Given the description of an element on the screen output the (x, y) to click on. 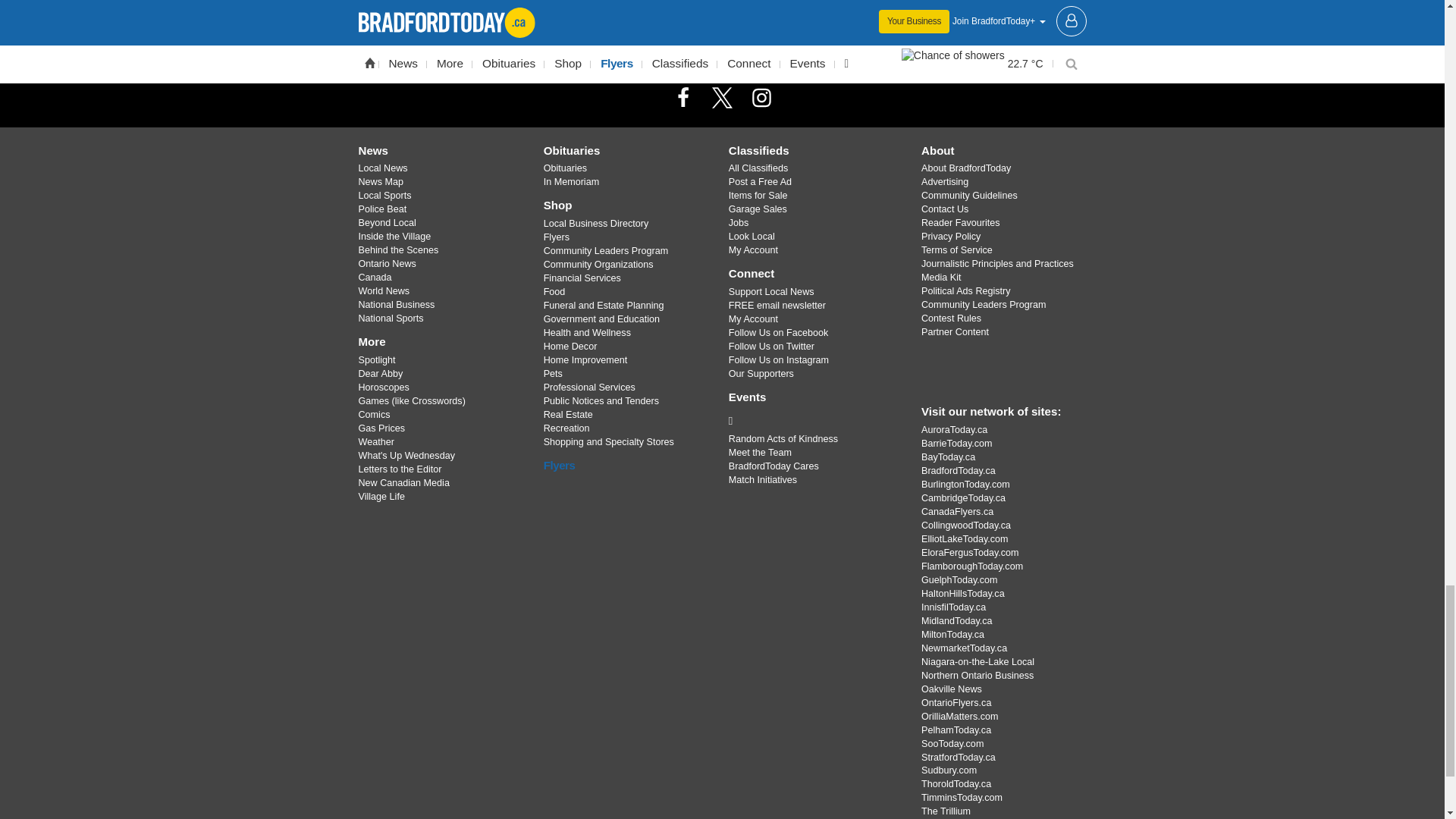
Facebook (683, 96)
Instagram (760, 96)
X (721, 96)
